Given the description of an element on the screen output the (x, y) to click on. 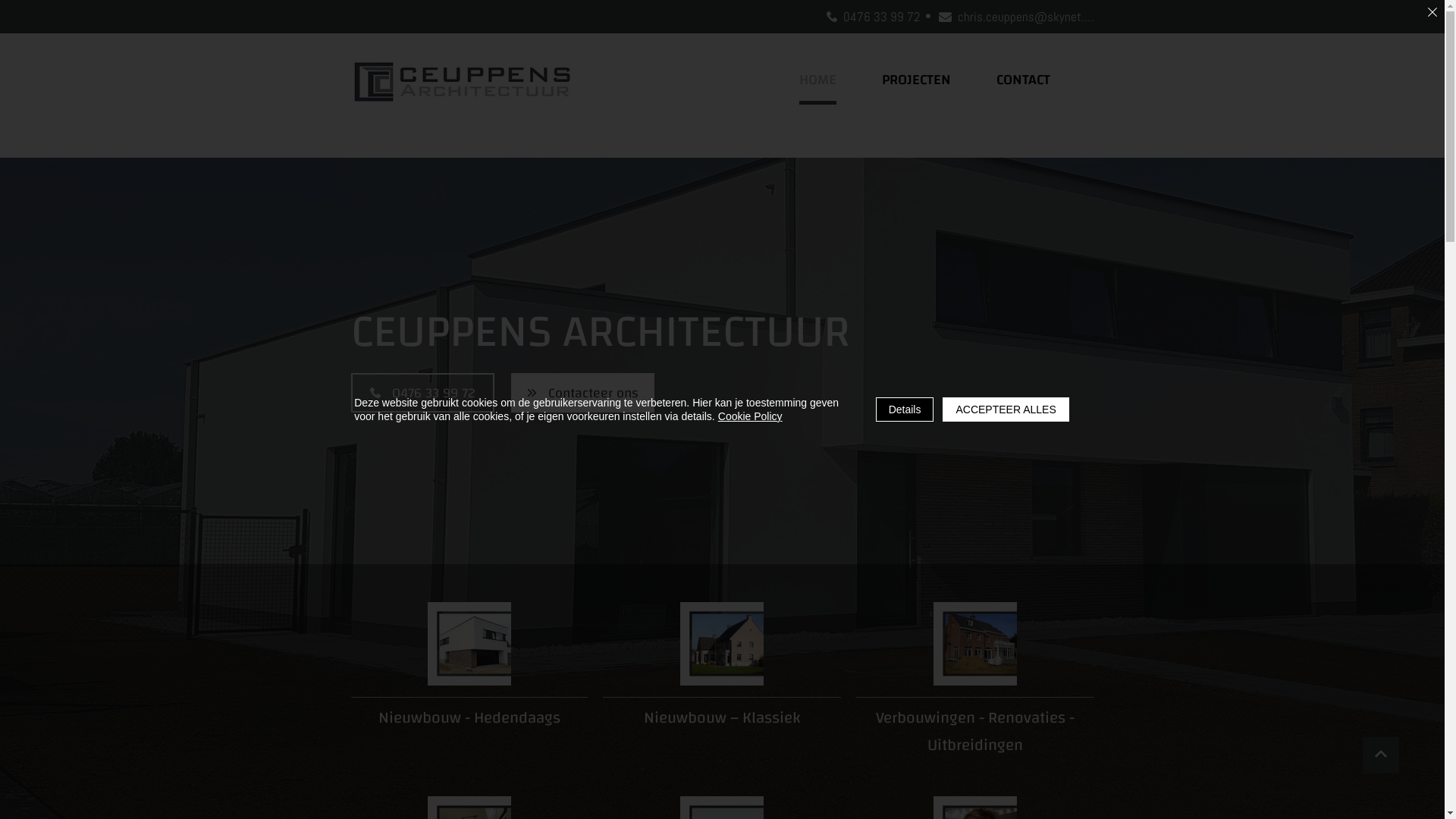
Verbouwingen - Renovaties - Uitbreidingen Element type: text (974, 730)
CONTACT Element type: text (1023, 79)
chris.ceuppens@skynet.be Element type: text (1016, 16)
Details Element type: text (904, 409)
Nieuwbouw - Hedendaags Element type: text (468, 717)
Cookie Policy Element type: text (750, 416)
0476 33 99 72 Element type: text (421, 392)
0476 33 99 72 Element type: text (873, 16)
PROJECTEN Element type: text (915, 79)
HOME Element type: text (817, 81)
Contacteer ons Element type: text (582, 392)
ACCEPTEER ALLES Element type: text (1005, 409)
